Given the description of an element on the screen output the (x, y) to click on. 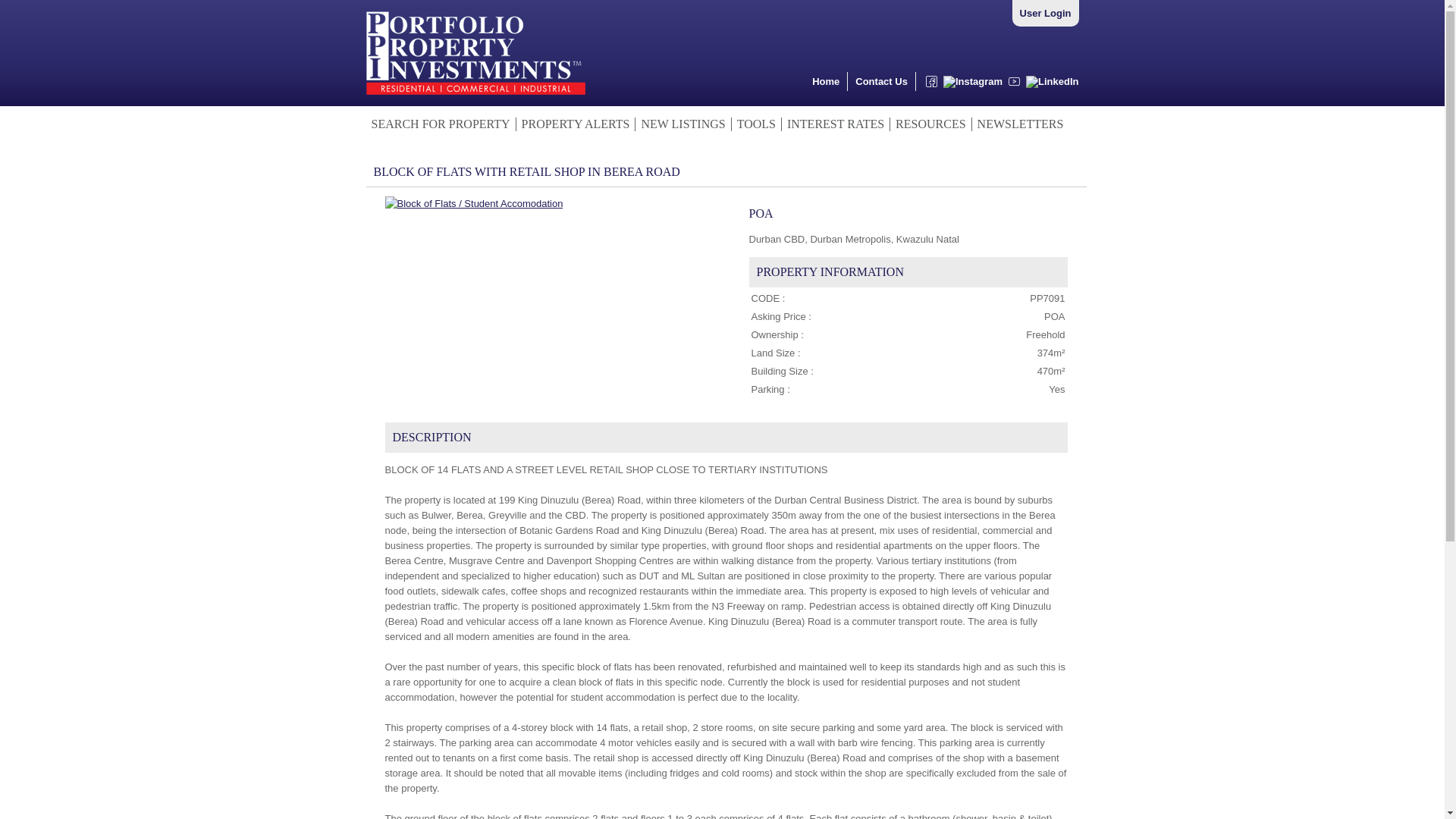
TOOLS (756, 124)
Contact Portfolio Property Investments (881, 81)
INTEREST RATES (835, 124)
NEWSLETTERS (1018, 124)
YouTube (1011, 85)
Home (826, 81)
NEW LISTINGS (682, 124)
Instagram (970, 85)
PROPERTY ALERTS (576, 124)
On Auction (474, 203)
LinkedIn (1049, 85)
Facebook (928, 85)
RESOURCES (930, 124)
Contact Us (881, 81)
User Login (1045, 12)
